Given the description of an element on the screen output the (x, y) to click on. 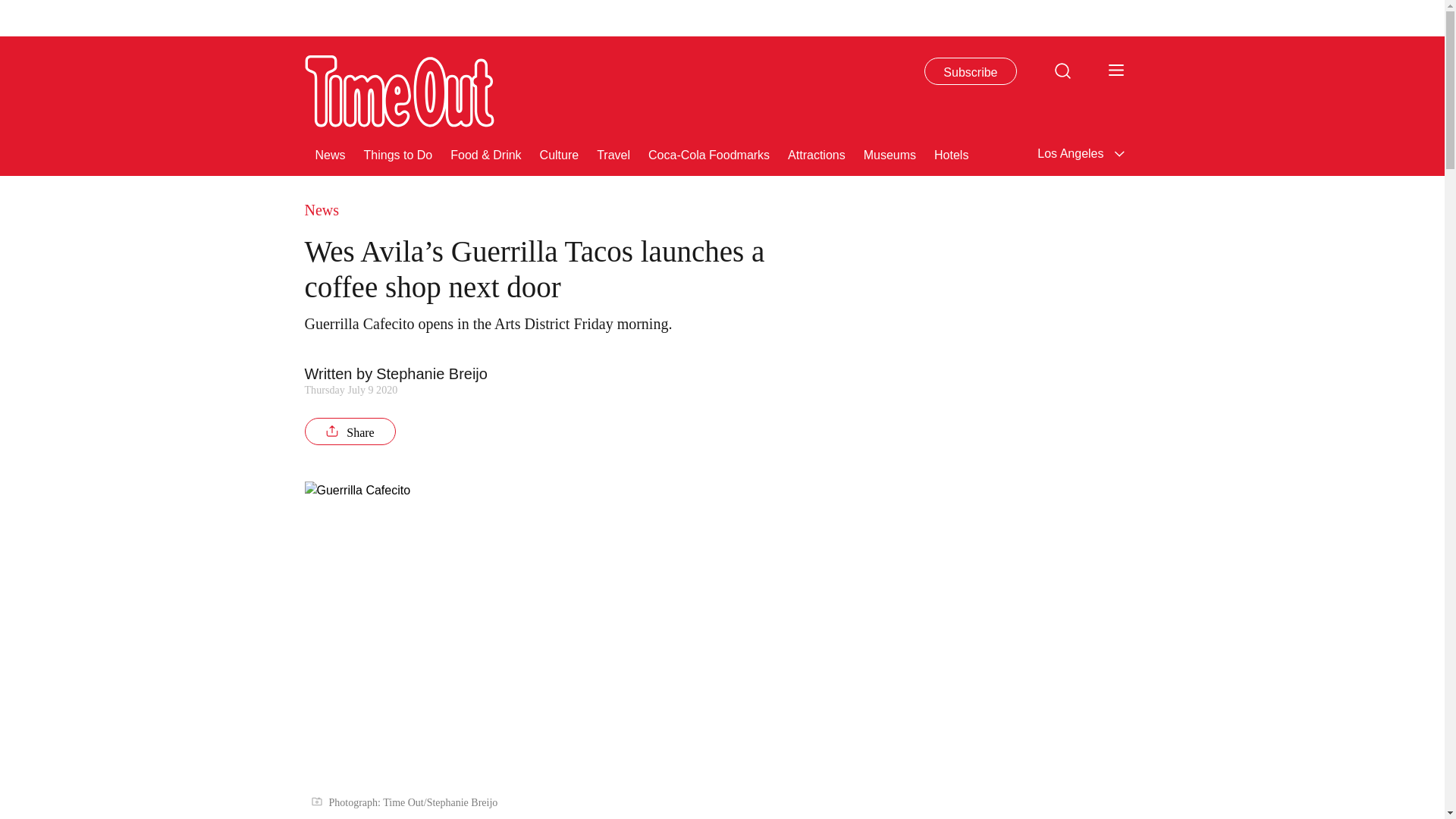
News (330, 153)
Museums (889, 153)
Hotels (951, 153)
Search (1061, 69)
Culture (559, 153)
Attractions (816, 153)
Travel (613, 153)
Things to Do (397, 153)
Subscribe (970, 71)
